Given the description of an element on the screen output the (x, y) to click on. 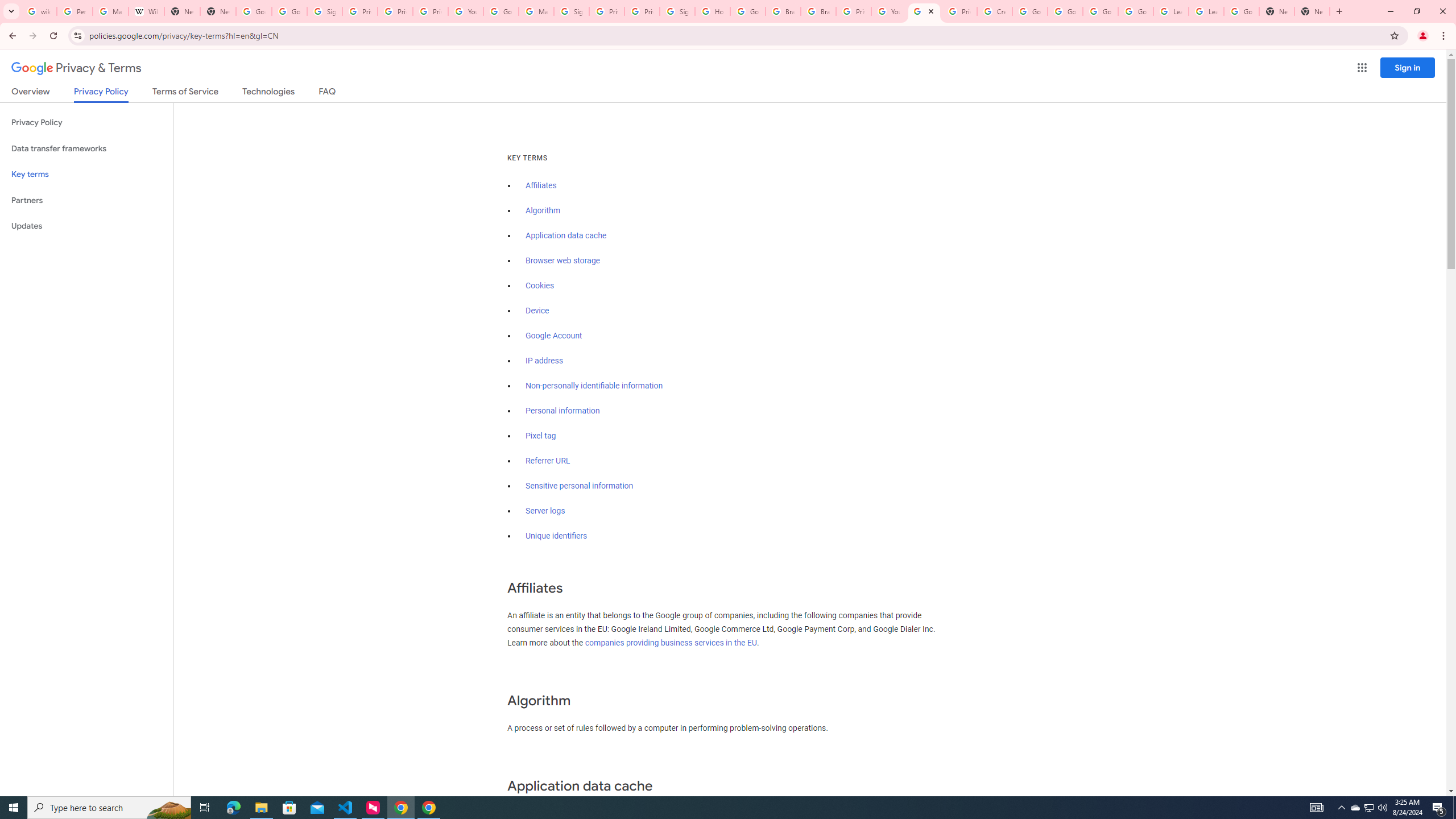
companies providing business services in the EU (671, 642)
Manage your Location History - Google Search Help (110, 11)
Sign in - Google Accounts (677, 11)
Affiliates (540, 185)
